Given the description of an element on the screen output the (x, y) to click on. 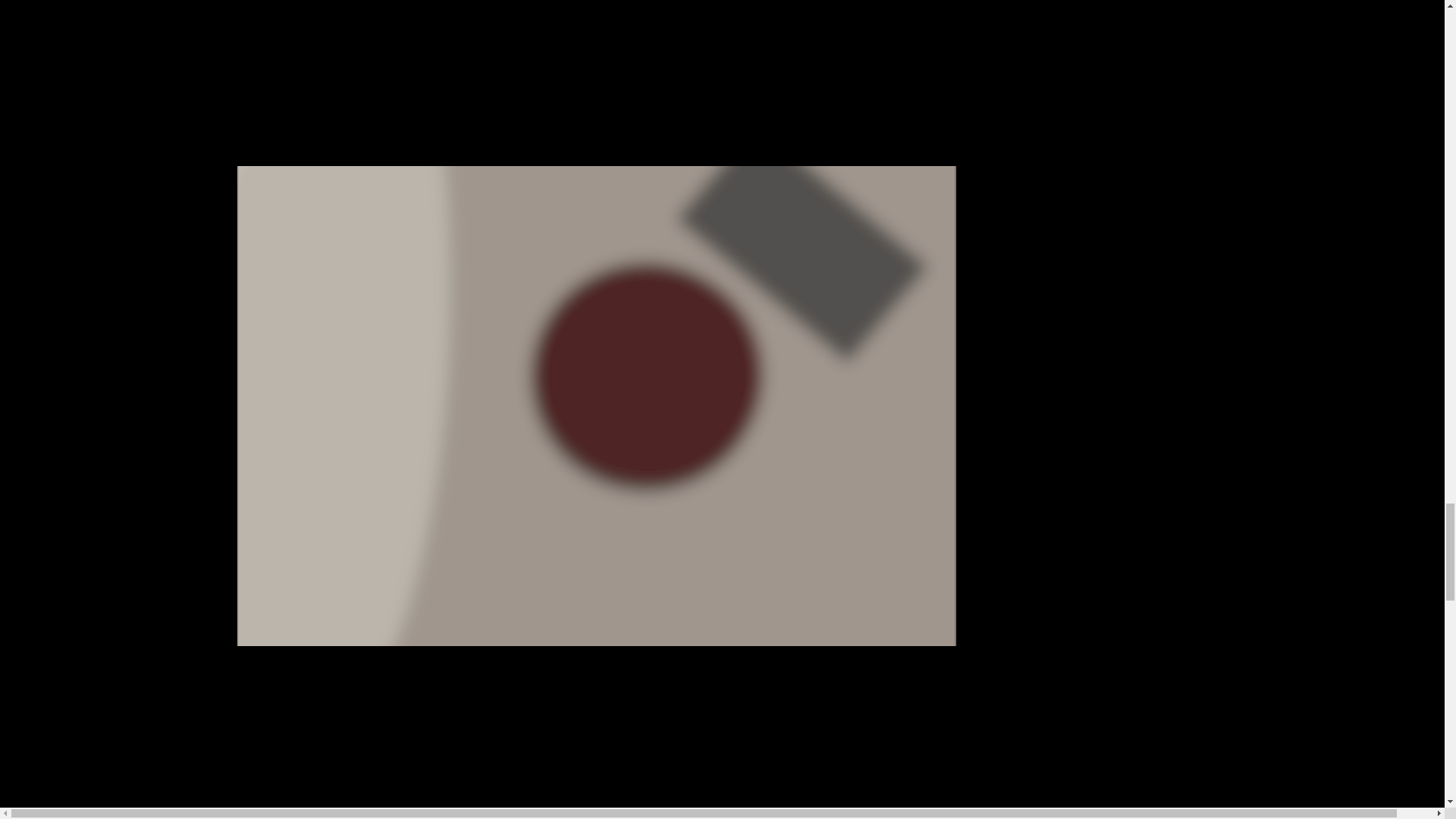
Mike (252, 40)
View all posts by Mike (252, 40)
